Given the description of an element on the screen output the (x, y) to click on. 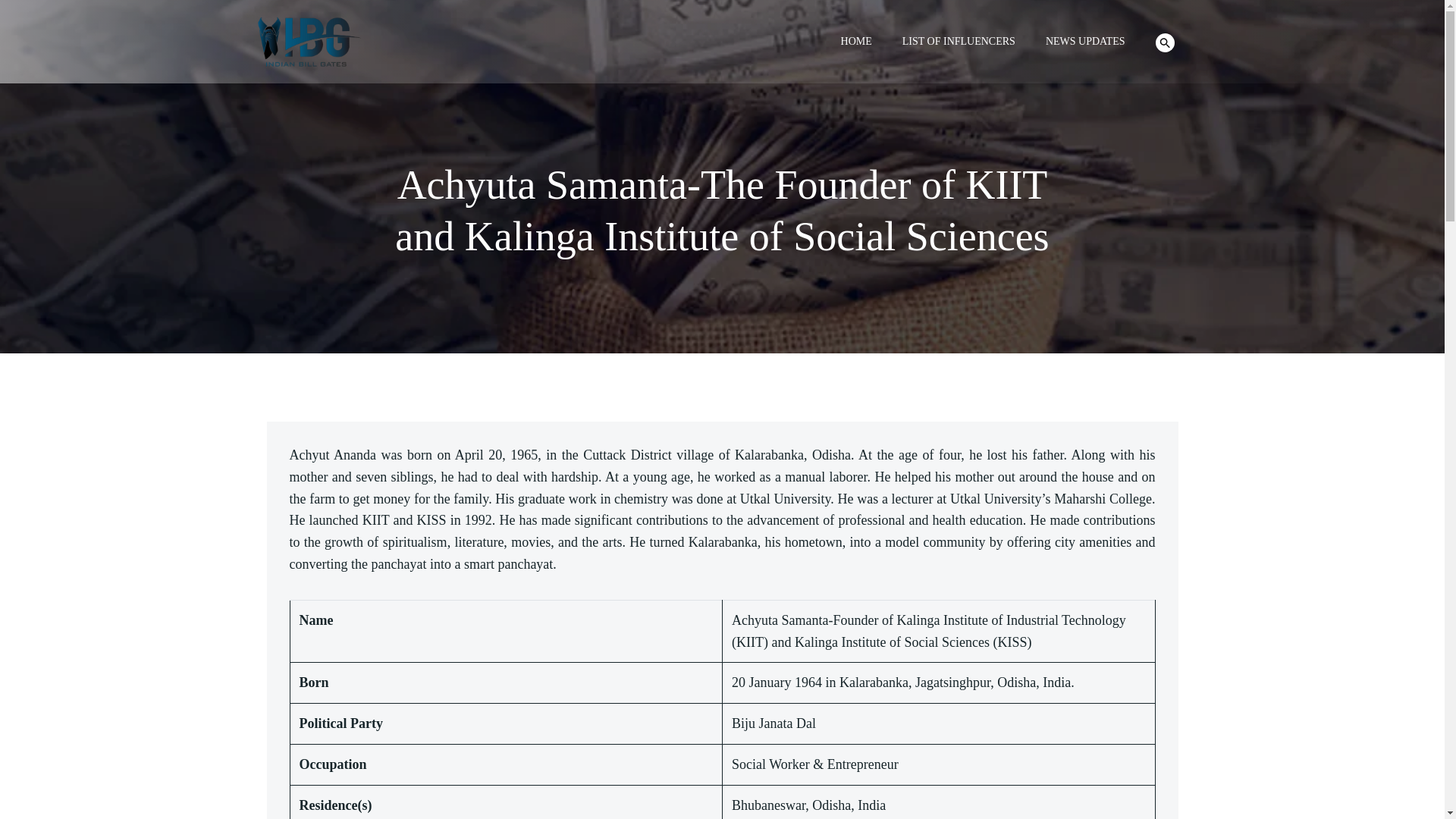
HOME (856, 41)
LIST OF INFLUENCERS (958, 41)
NEWS UPDATES (1085, 41)
